Given the description of an element on the screen output the (x, y) to click on. 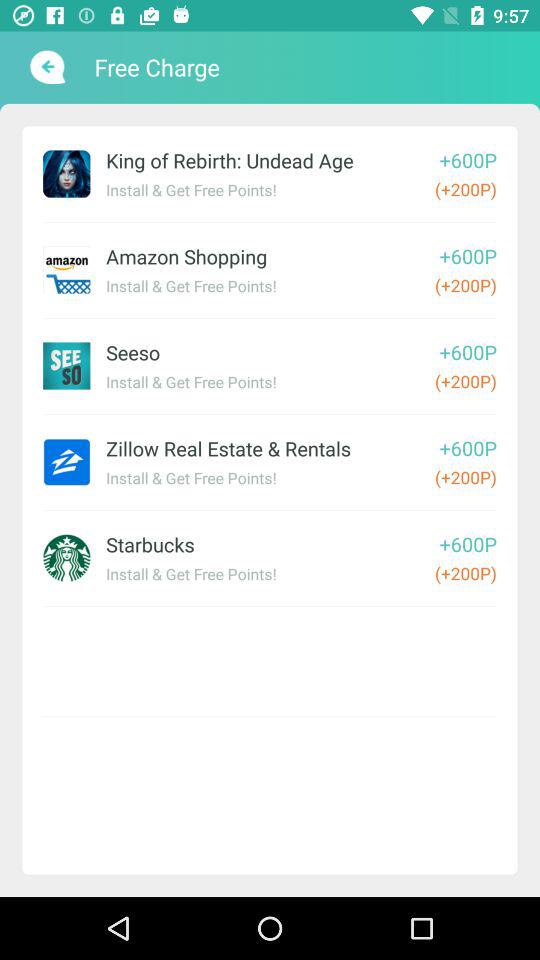
open item to the left of the free charge item (45, 67)
